Given the description of an element on the screen output the (x, y) to click on. 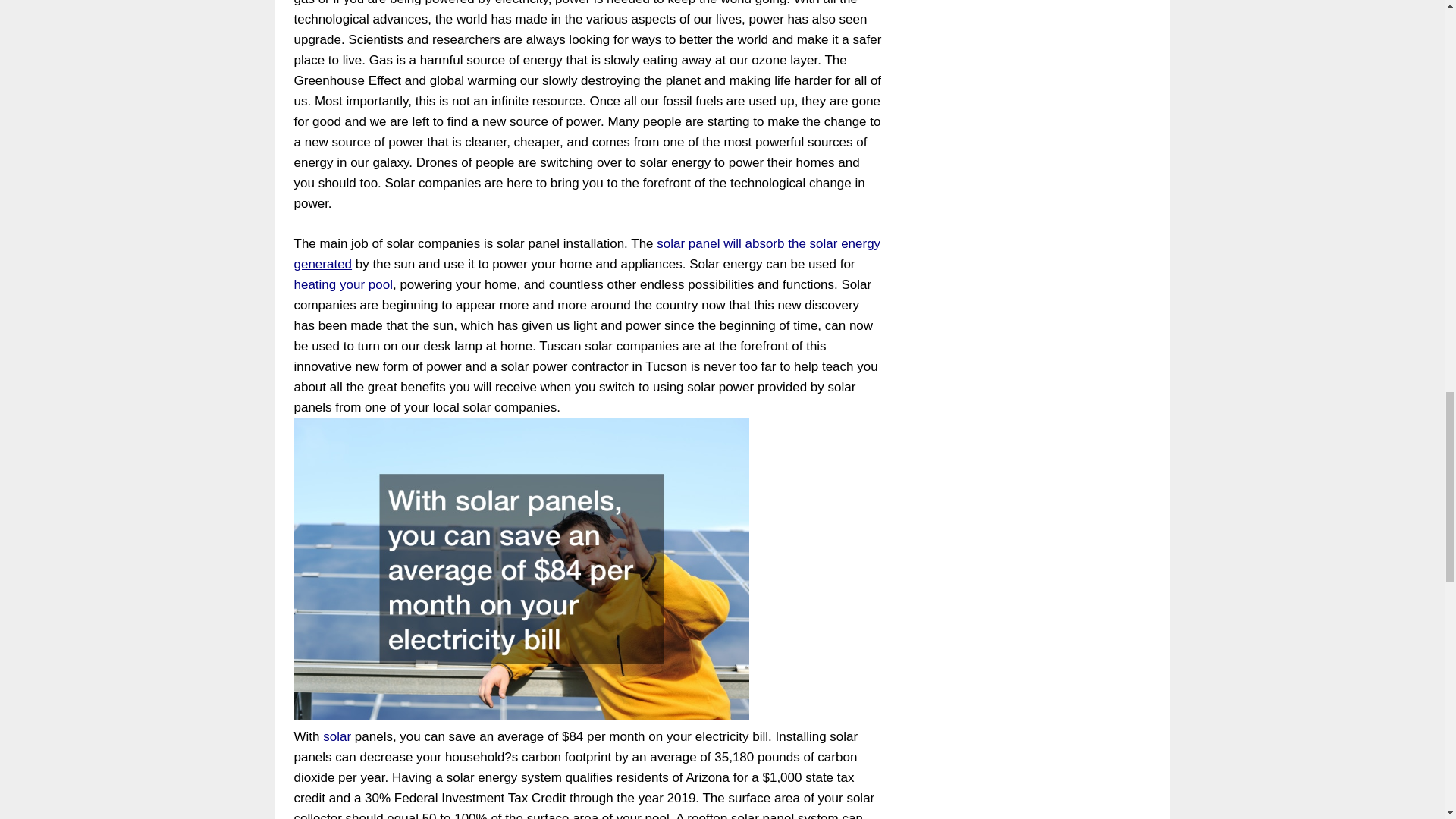
Solar companies, Solar tucson (587, 253)
I link here (343, 284)
solar (336, 736)
solar panel will absorb the solar energy generated (587, 253)
heating your pool (343, 284)
